Given the description of an element on the screen output the (x, y) to click on. 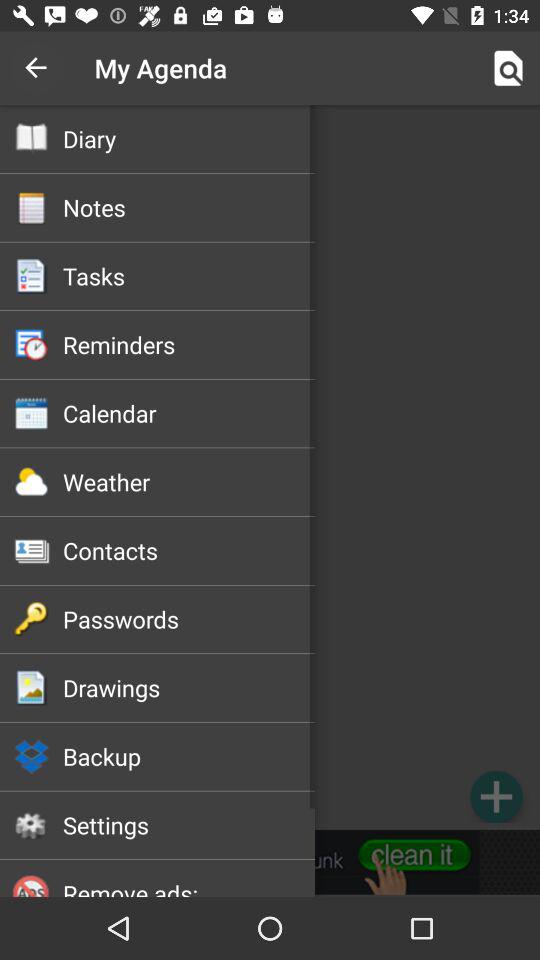
turn on icon above the backup (188, 687)
